Given the description of an element on the screen output the (x, y) to click on. 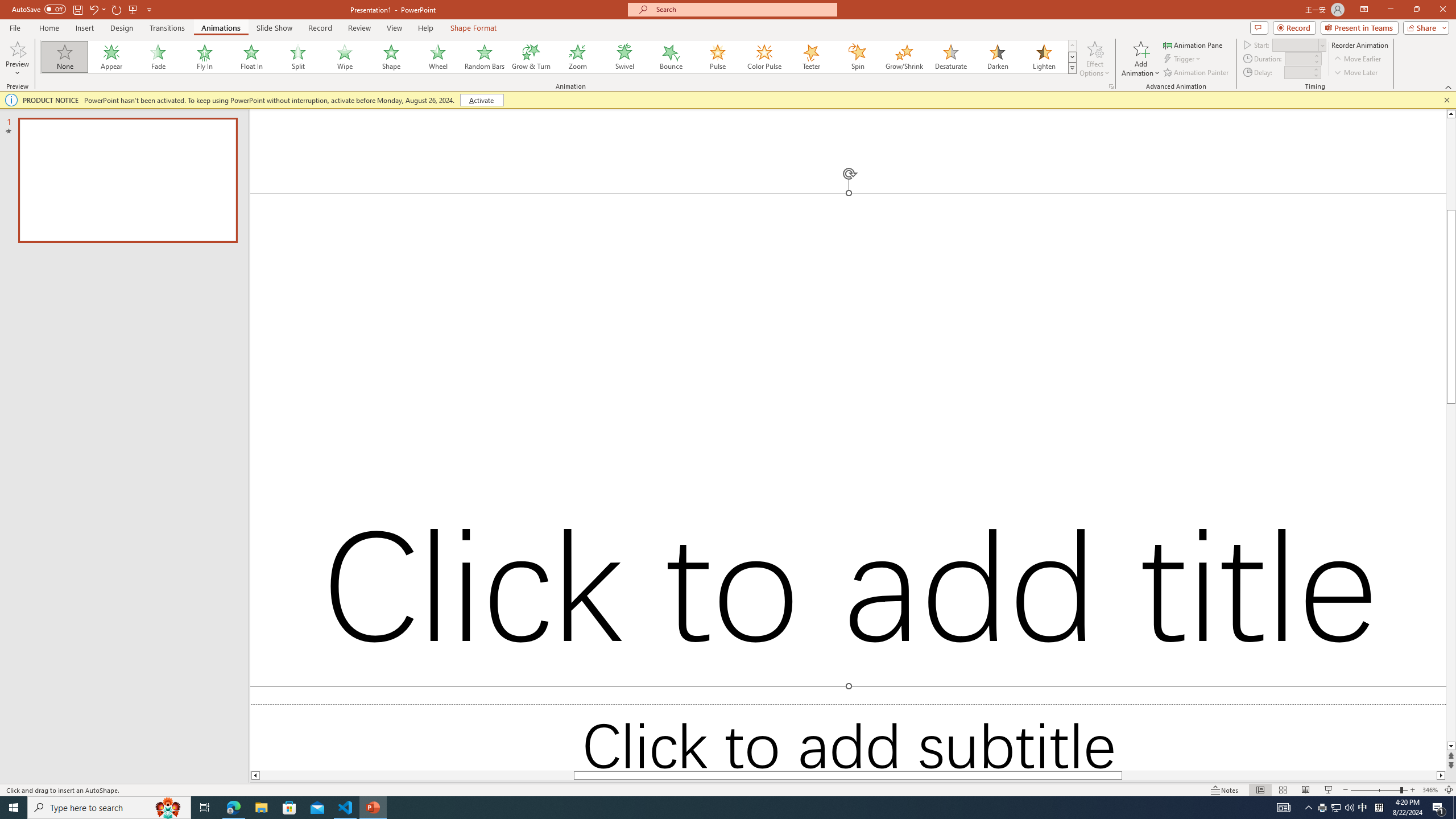
Spin (857, 56)
Animation Styles (1071, 67)
Darken (997, 56)
Split (298, 56)
Lighten (1043, 56)
Float In (251, 56)
Desaturate (950, 56)
Animation Delay (1297, 72)
Trigger (1182, 58)
Color Pulse (764, 56)
